Given the description of an element on the screen output the (x, y) to click on. 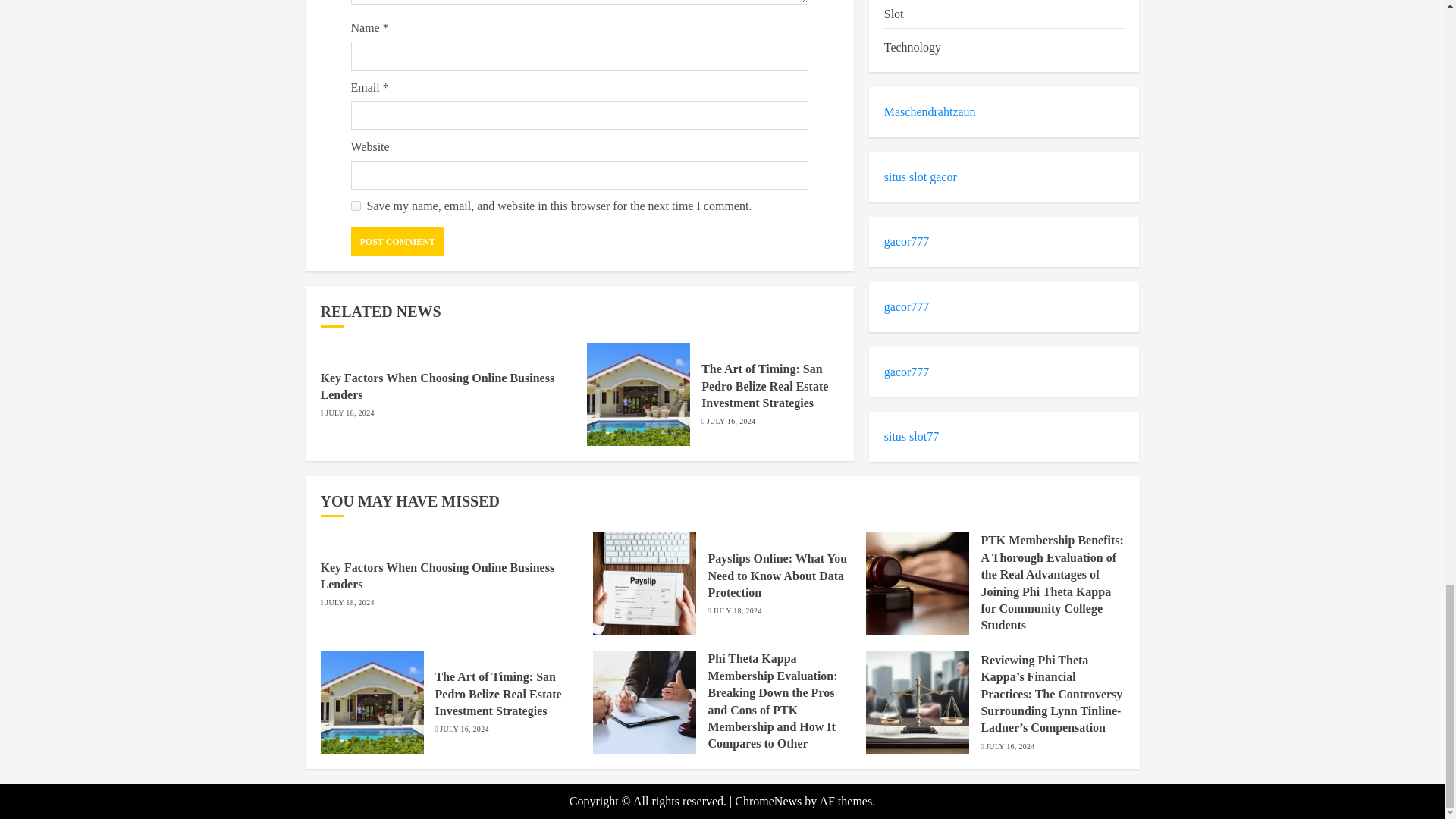
yes (354, 205)
JULY 16, 2024 (730, 421)
Key Factors When Choosing Online Business Lenders (437, 386)
Post Comment (397, 241)
Post Comment (397, 241)
JULY 18, 2024 (349, 412)
